Given the description of an element on the screen output the (x, y) to click on. 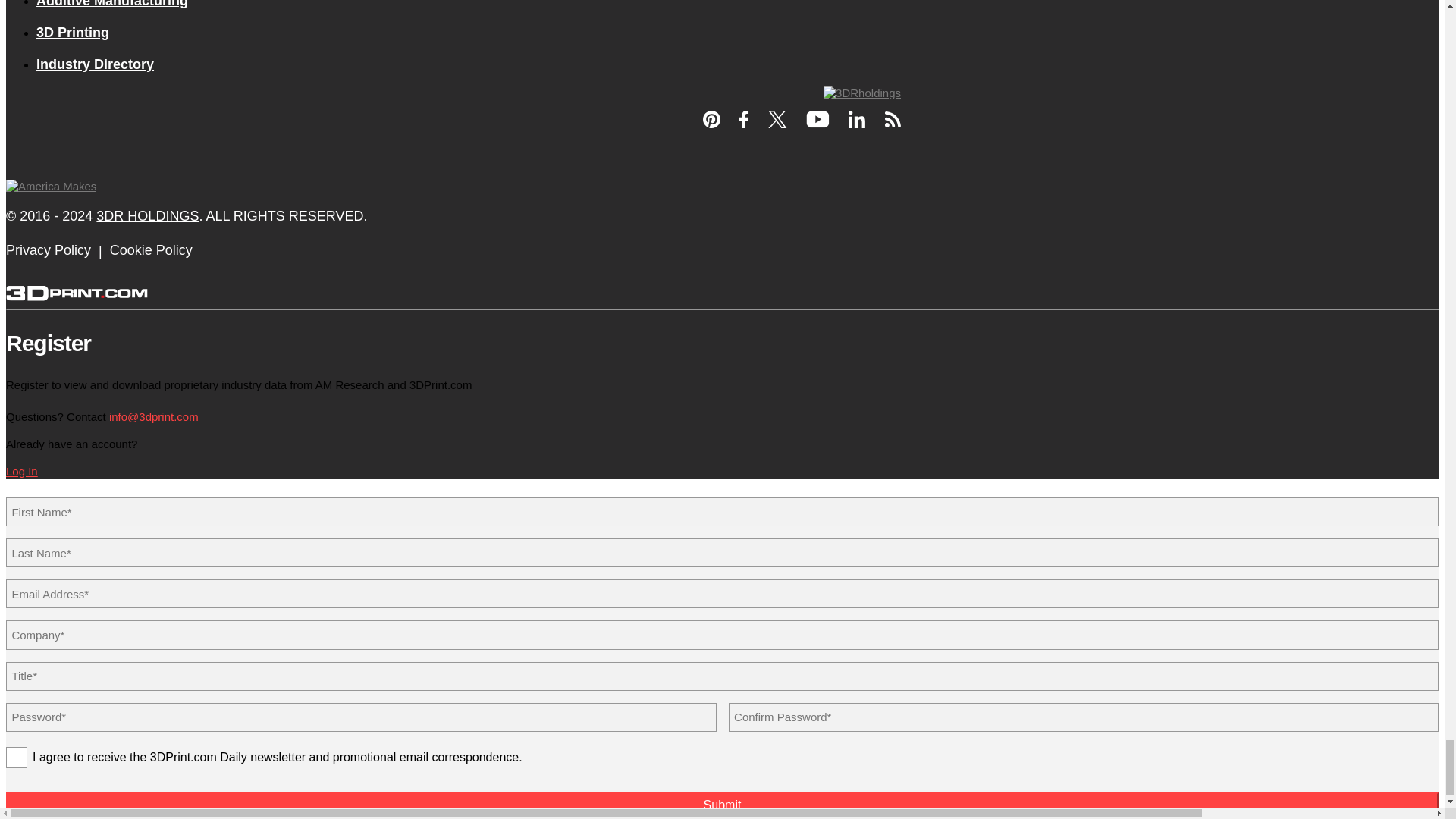
Submit (721, 805)
